Given the description of an element on the screen output the (x, y) to click on. 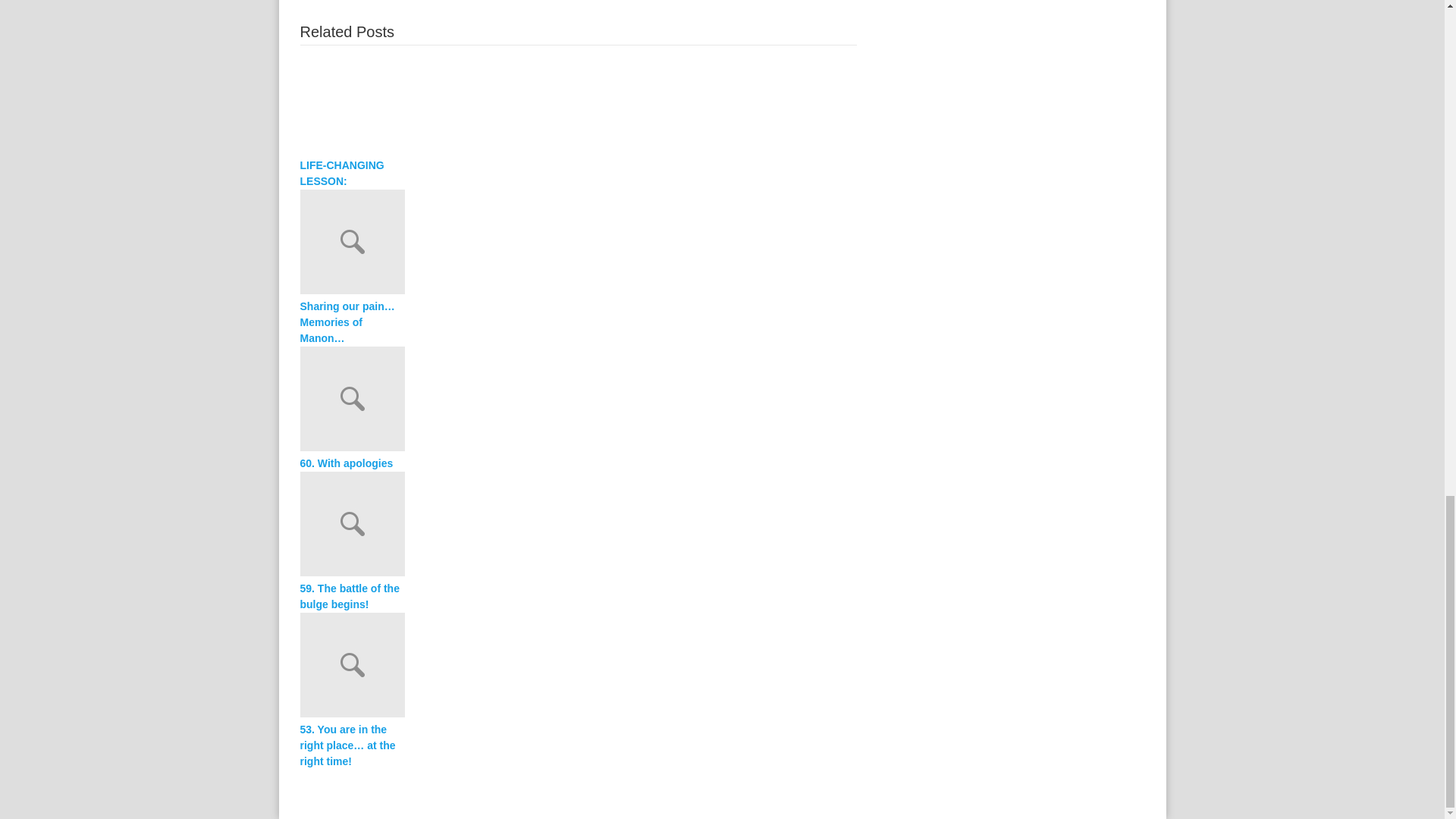
59. The battle of the bulge begins! (351, 596)
60. With apologies (351, 463)
59. The battle of the bulge begins! (578, 525)
59. The battle of the bulge begins! (351, 596)
LIFE-CHANGING LESSON: (351, 173)
LIFE-CHANGING LESSON: (578, 105)
LIFE-CHANGING LESSON: (351, 173)
60. With apologies (351, 463)
60. With apologies (578, 400)
